Given the description of an element on the screen output the (x, y) to click on. 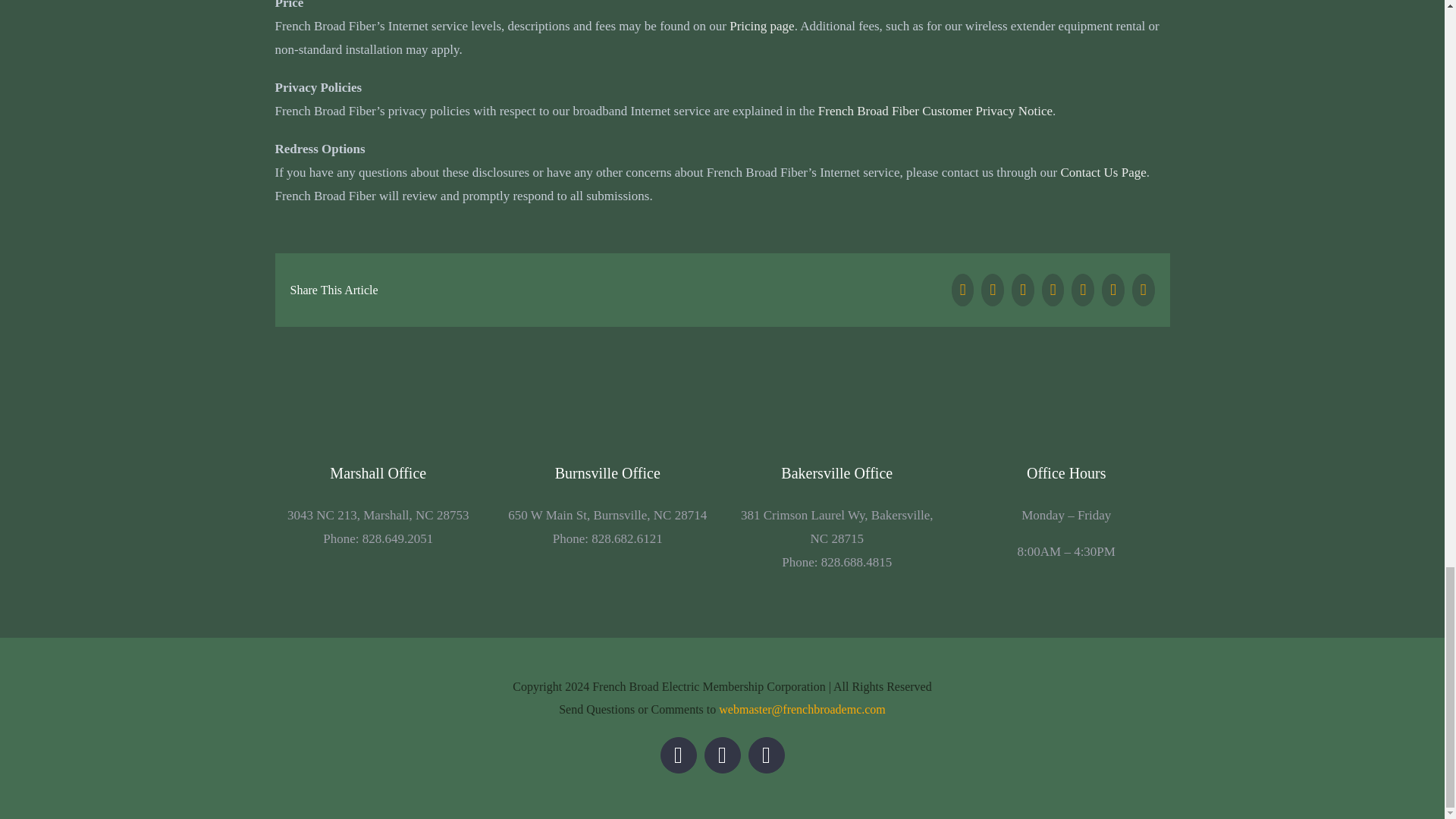
Contact Us Page (1102, 172)
Twitter (677, 755)
Facebook (721, 755)
YouTube (766, 755)
Pricing page (761, 25)
French Broad Fiber Customer Privacy Notice (935, 110)
